Given the description of an element on the screen output the (x, y) to click on. 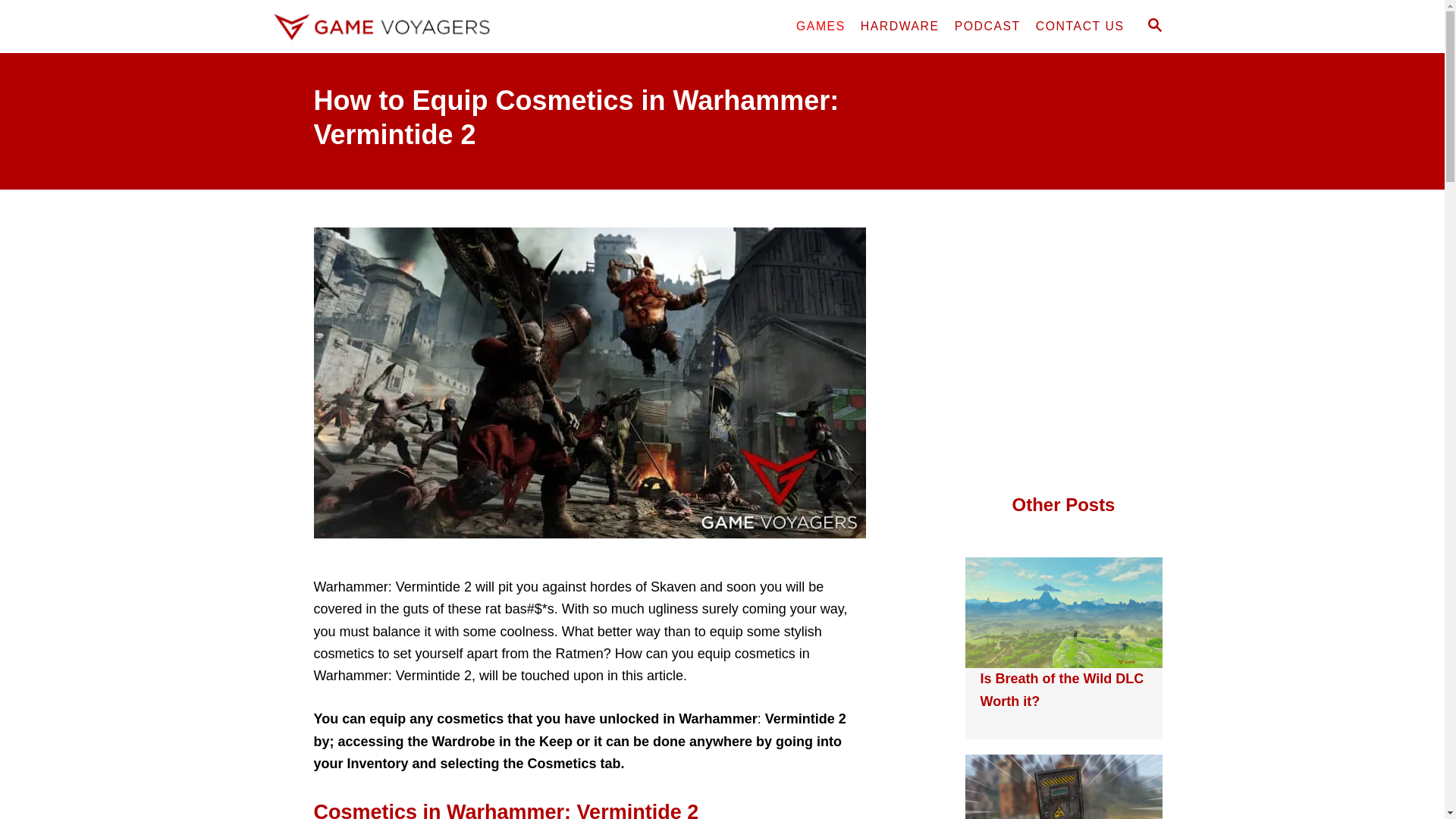
HARDWARE (900, 26)
PODCAST (987, 26)
GAMES (821, 26)
Game Voyagers (403, 26)
CONTACT US (1079, 26)
SEARCH (1153, 26)
Is Breath of the Wild DLC Worth it? (1060, 689)
